Given the description of an element on the screen output the (x, y) to click on. 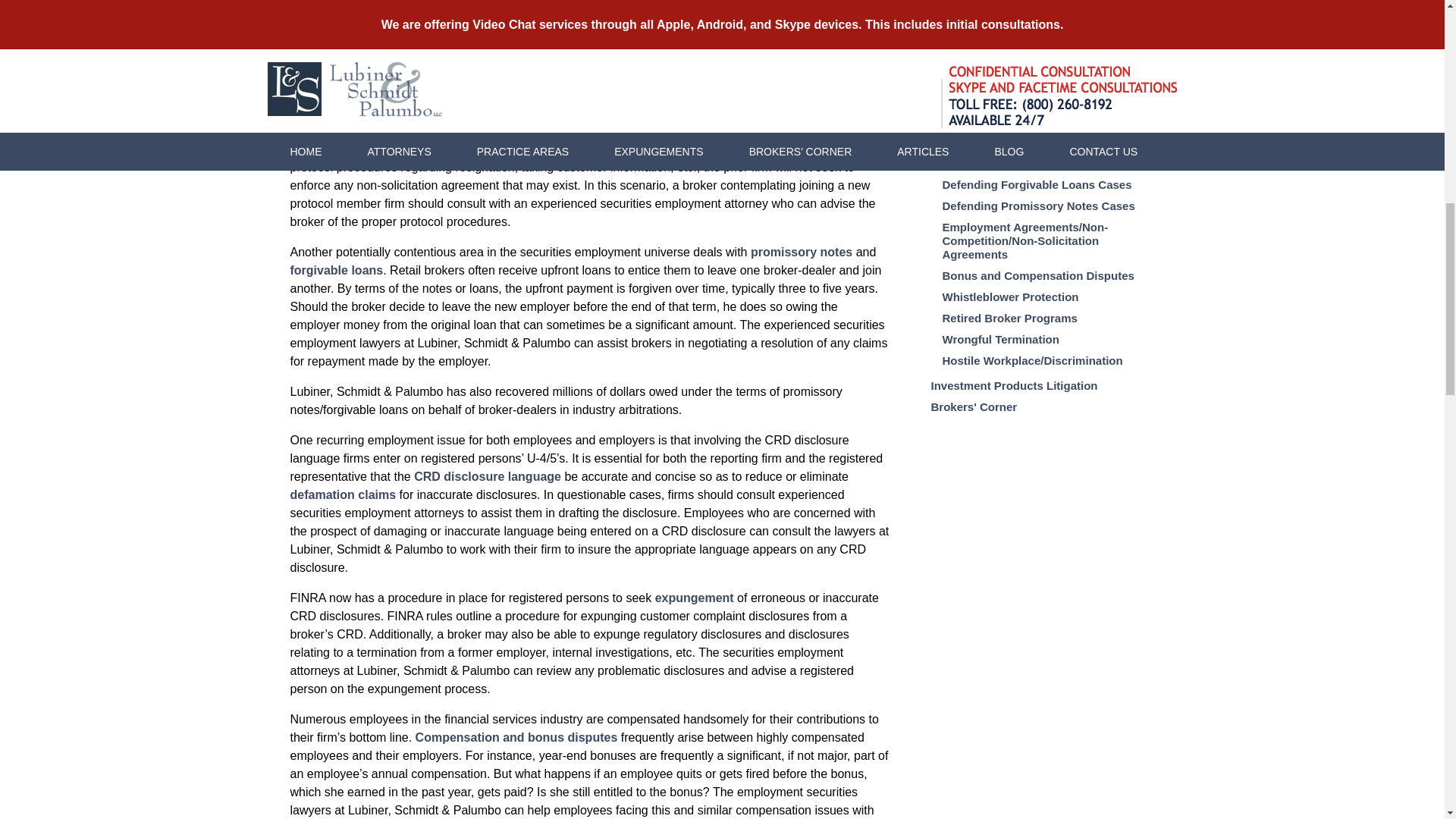
expungement (694, 597)
Protocol for Broker Recruiting (547, 112)
Recruiting Protocol (797, 112)
defamation claims (342, 494)
CRD disclosure language (486, 476)
promissory notes (801, 251)
Compensation and bonus disputes (515, 737)
forgivable loans (335, 269)
